Given the description of an element on the screen output the (x, y) to click on. 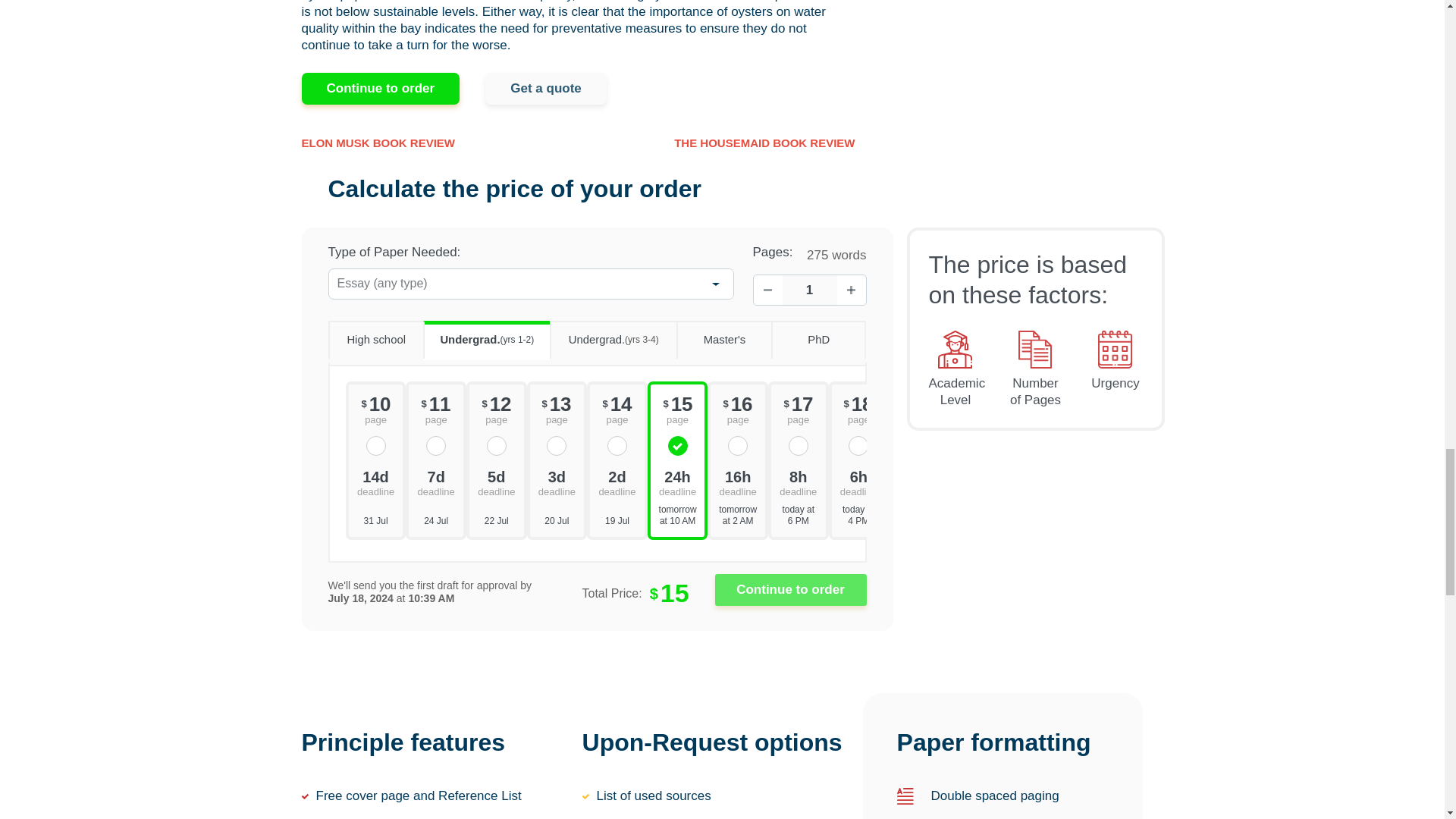
Increase (851, 290)
2 days (617, 481)
24 hours (677, 481)
5 days (496, 481)
Decrease (768, 290)
14 days (375, 481)
1 (810, 289)
6 hours (858, 481)
3 days (557, 481)
8 hours (798, 481)
16 hours (737, 481)
Continue to order (790, 590)
7 days (436, 481)
